Given the description of an element on the screen output the (x, y) to click on. 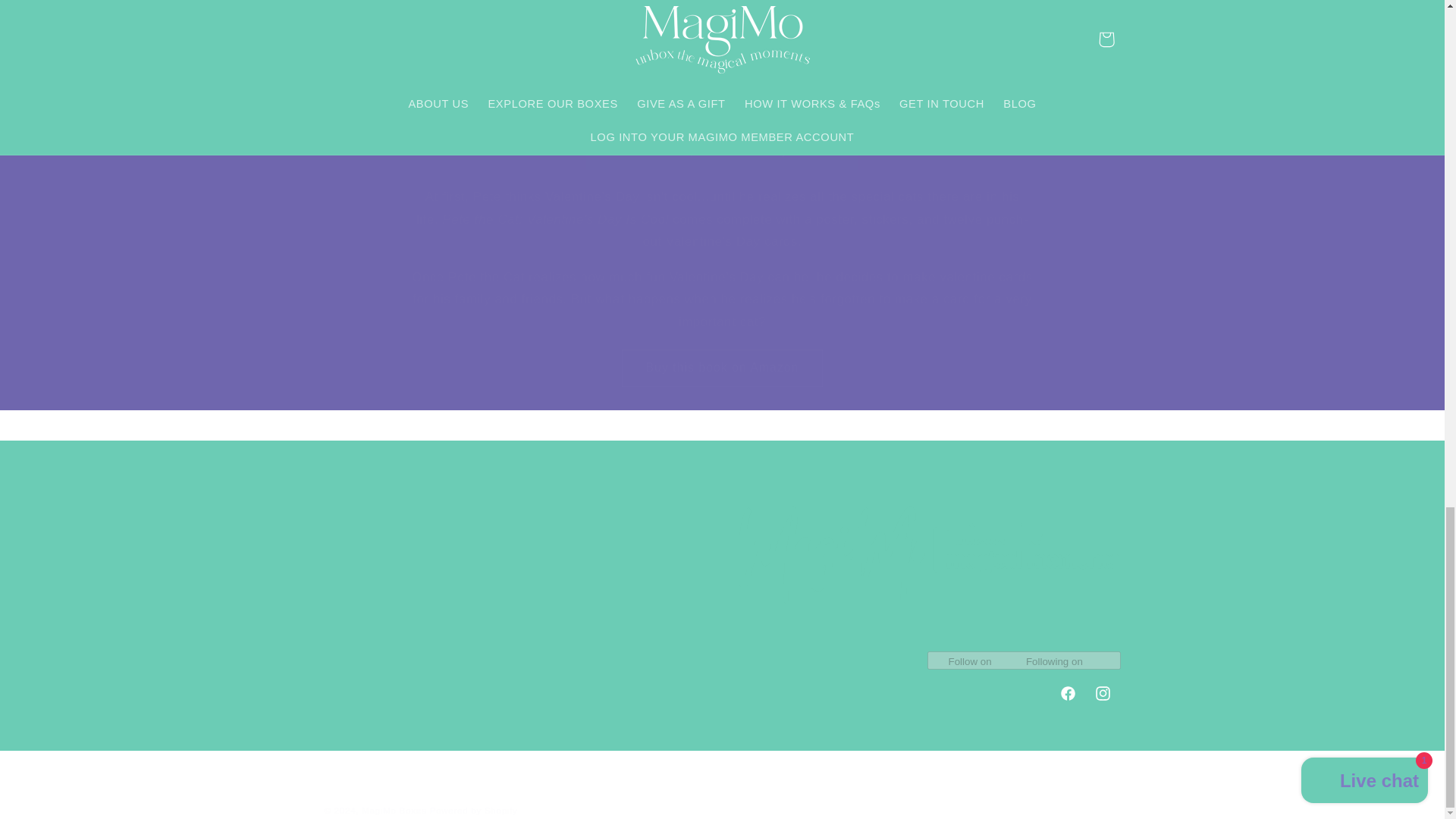
Buy this book on Amazon (722, 35)
Buy this book on Amazon (722, 367)
Pete The Cat, Valentines Day is Cool (722, 150)
MagiMo Memberships (383, 504)
Pete The Cat, Valentines Day is Cool (722, 150)
Buy this book on Amazon (721, 35)
Buy this book on Amazon (721, 367)
